Given the description of an element on the screen output the (x, y) to click on. 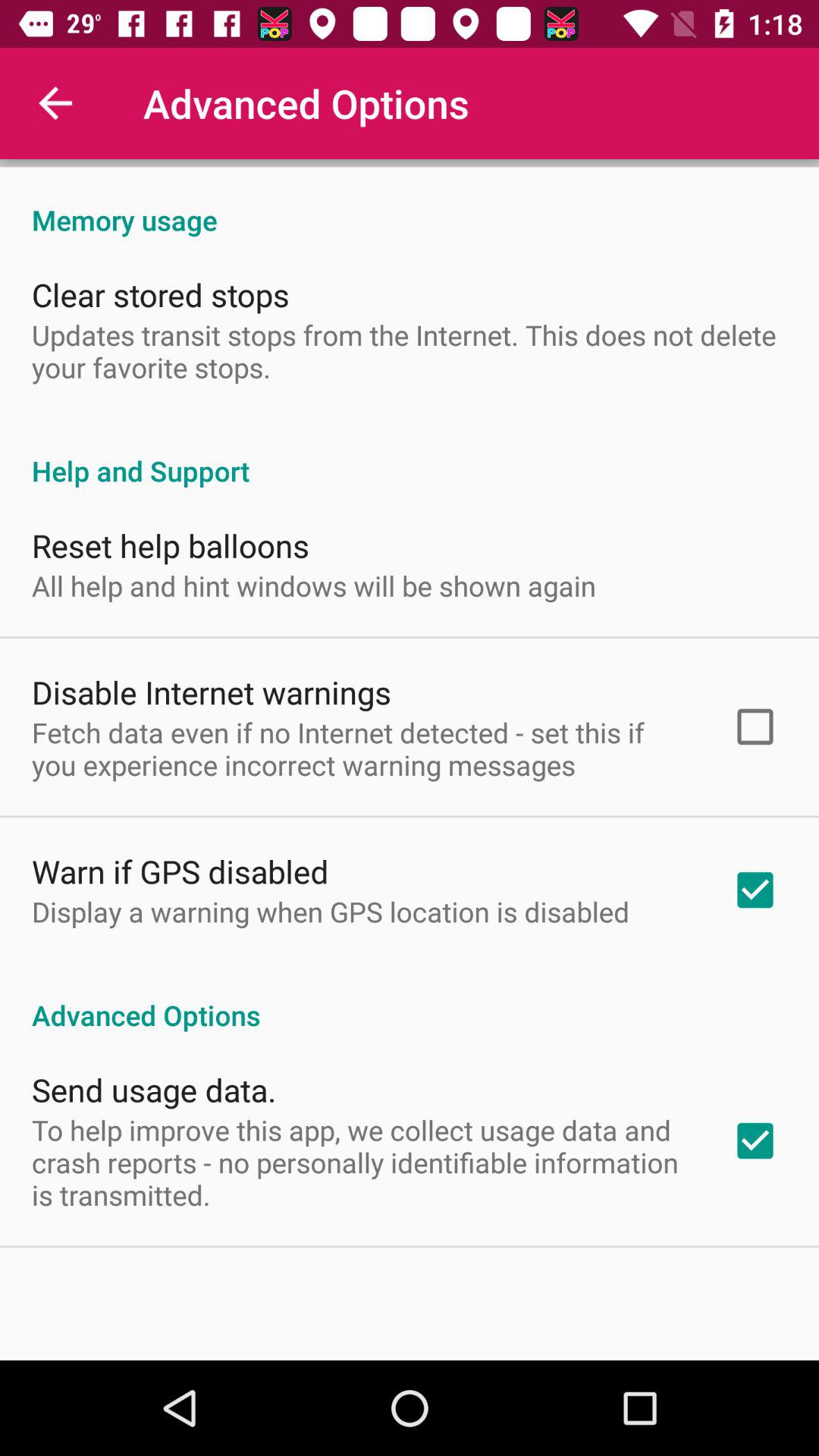
jump to memory usage icon (409, 203)
